Given the description of an element on the screen output the (x, y) to click on. 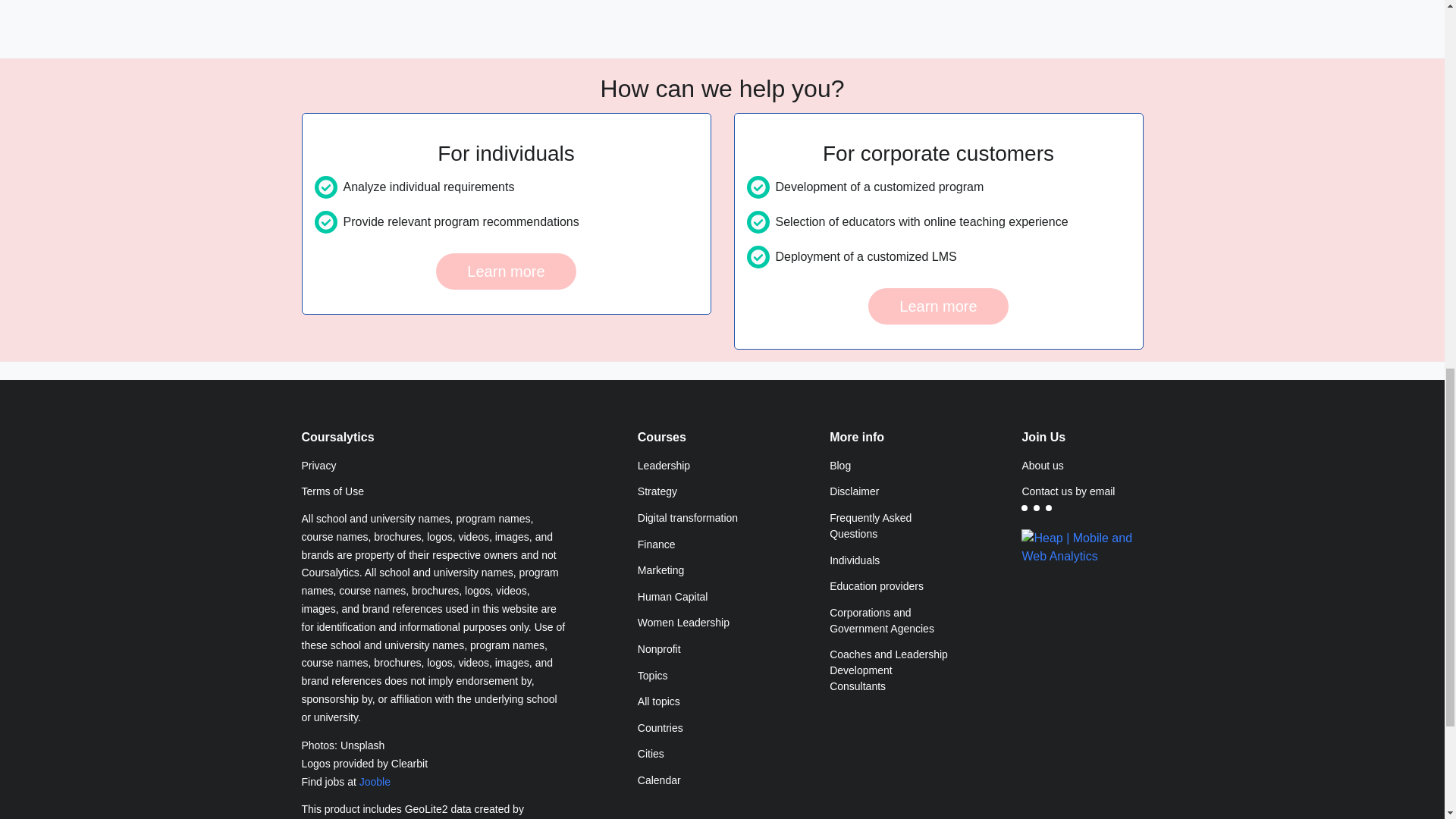
Nonprofit (697, 649)
Leadership (697, 465)
Jooble (374, 781)
Logos provided by Clearbit (434, 764)
Finance (697, 544)
Digital transformation (697, 518)
Learn more (505, 271)
Human Capital (697, 596)
Terms of Use (434, 492)
Unsplash (362, 744)
Learn more (937, 306)
Privacy (434, 465)
Women Leadership (697, 623)
Strategy (697, 492)
Reset filters (533, 2)
